Given the description of an element on the screen output the (x, y) to click on. 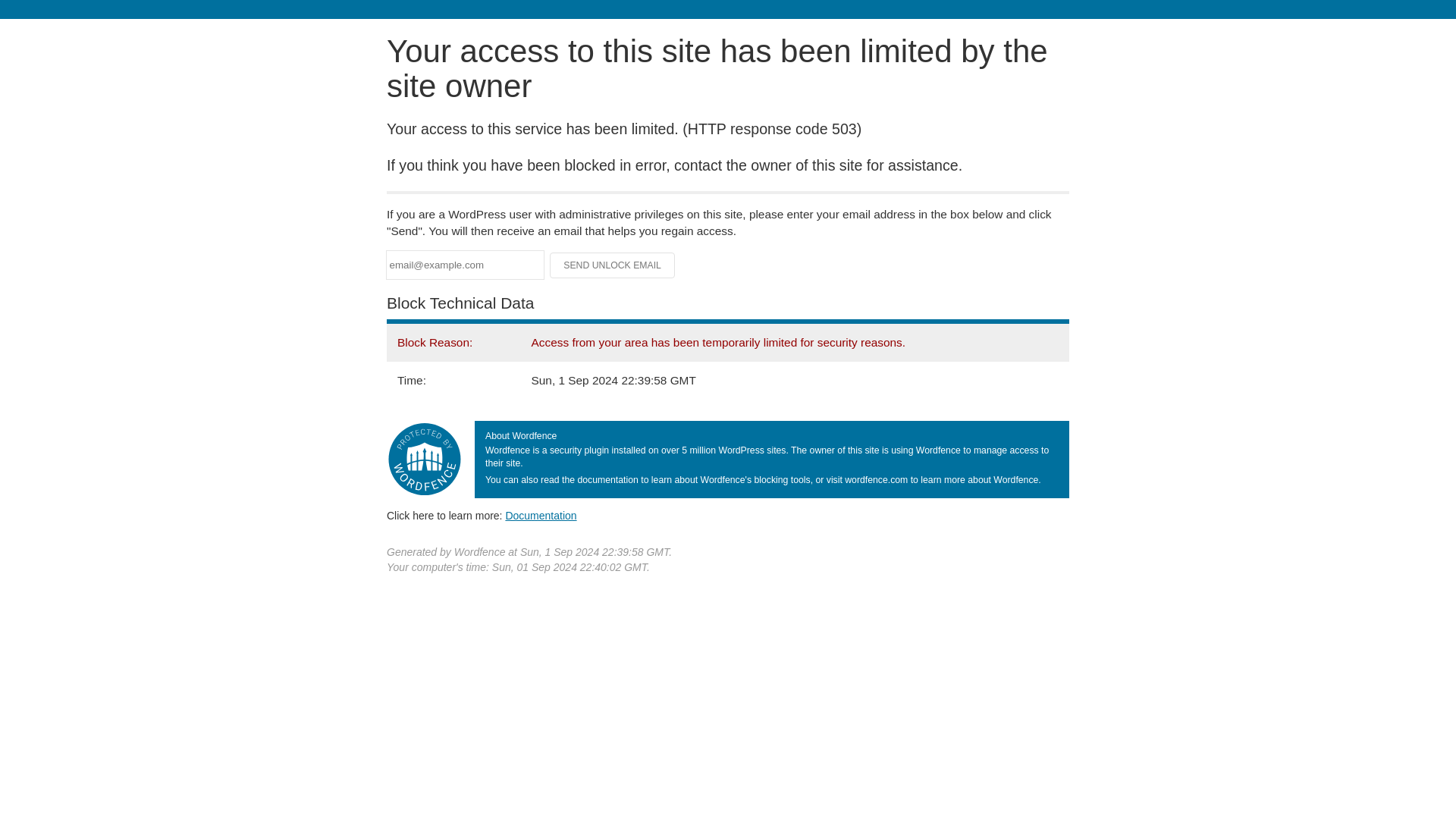
Documentation (540, 515)
Send Unlock Email (612, 265)
Send Unlock Email (612, 265)
